Given the description of an element on the screen output the (x, y) to click on. 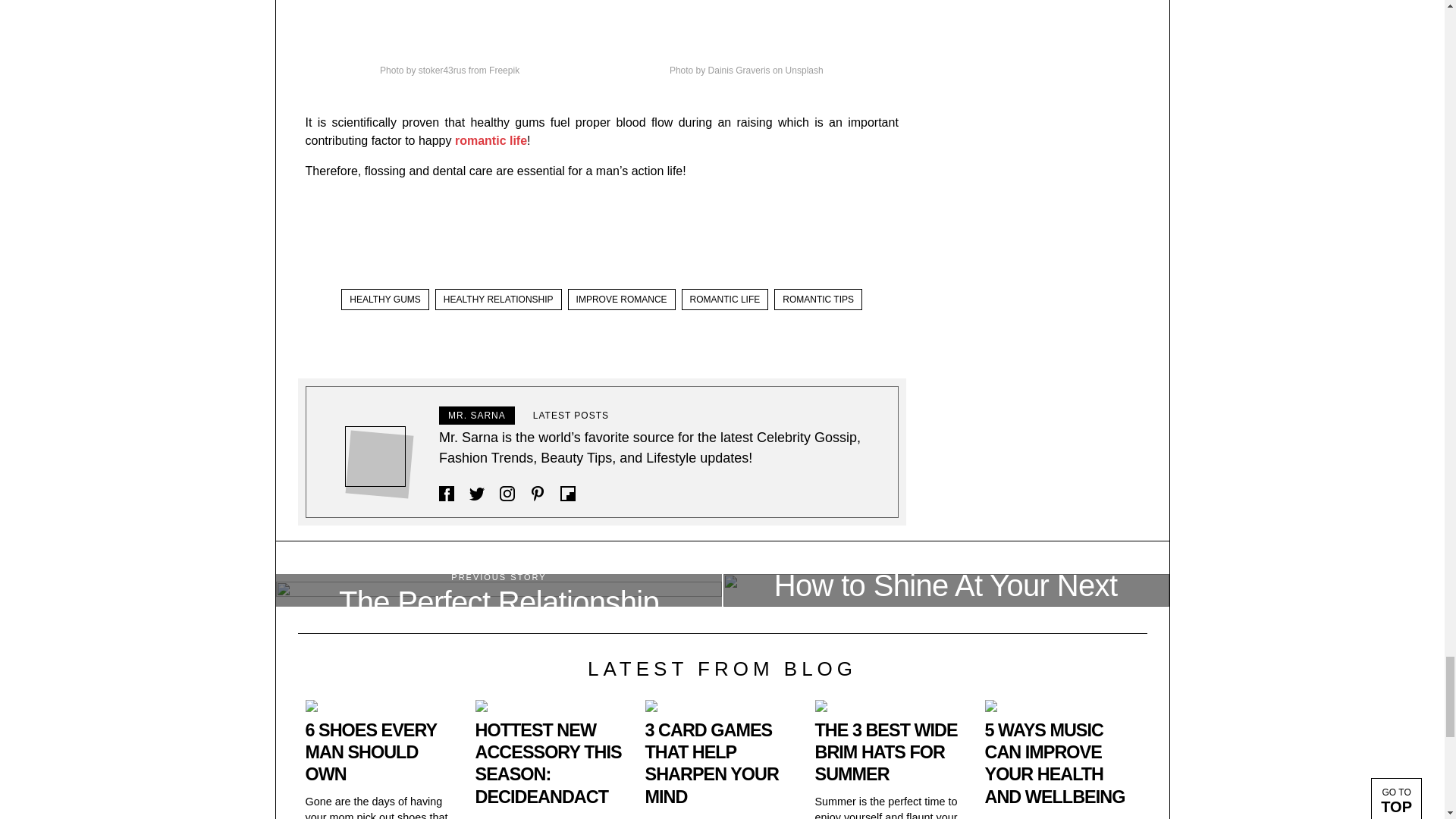
romantic life (490, 140)
Twitter (476, 493)
HEALTHY GUMS (384, 299)
Facebook (446, 493)
